Given the description of an element on the screen output the (x, y) to click on. 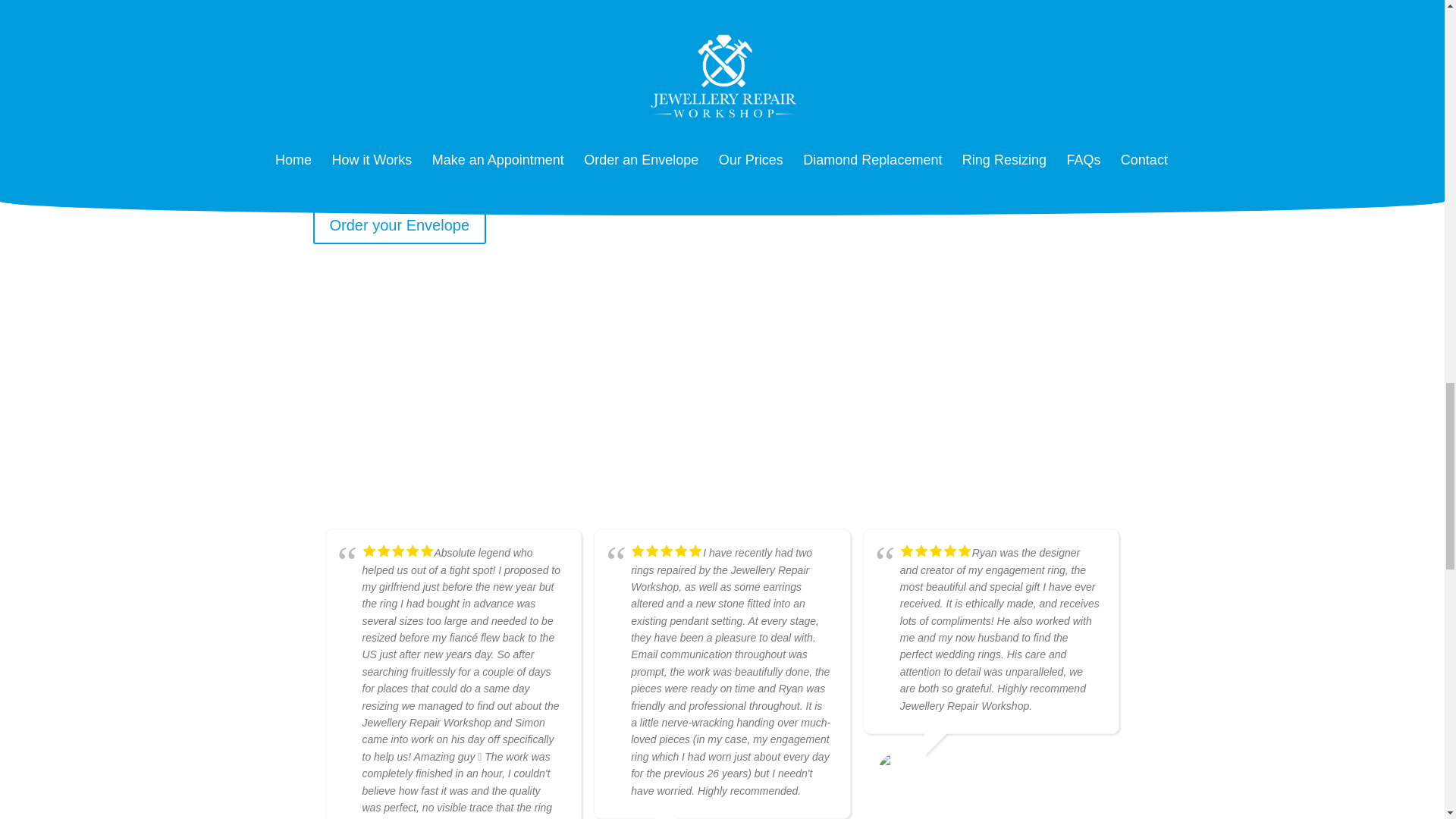
Order your Envelope (399, 225)
Order your Envelope (399, 225)
